Given the description of an element on the screen output the (x, y) to click on. 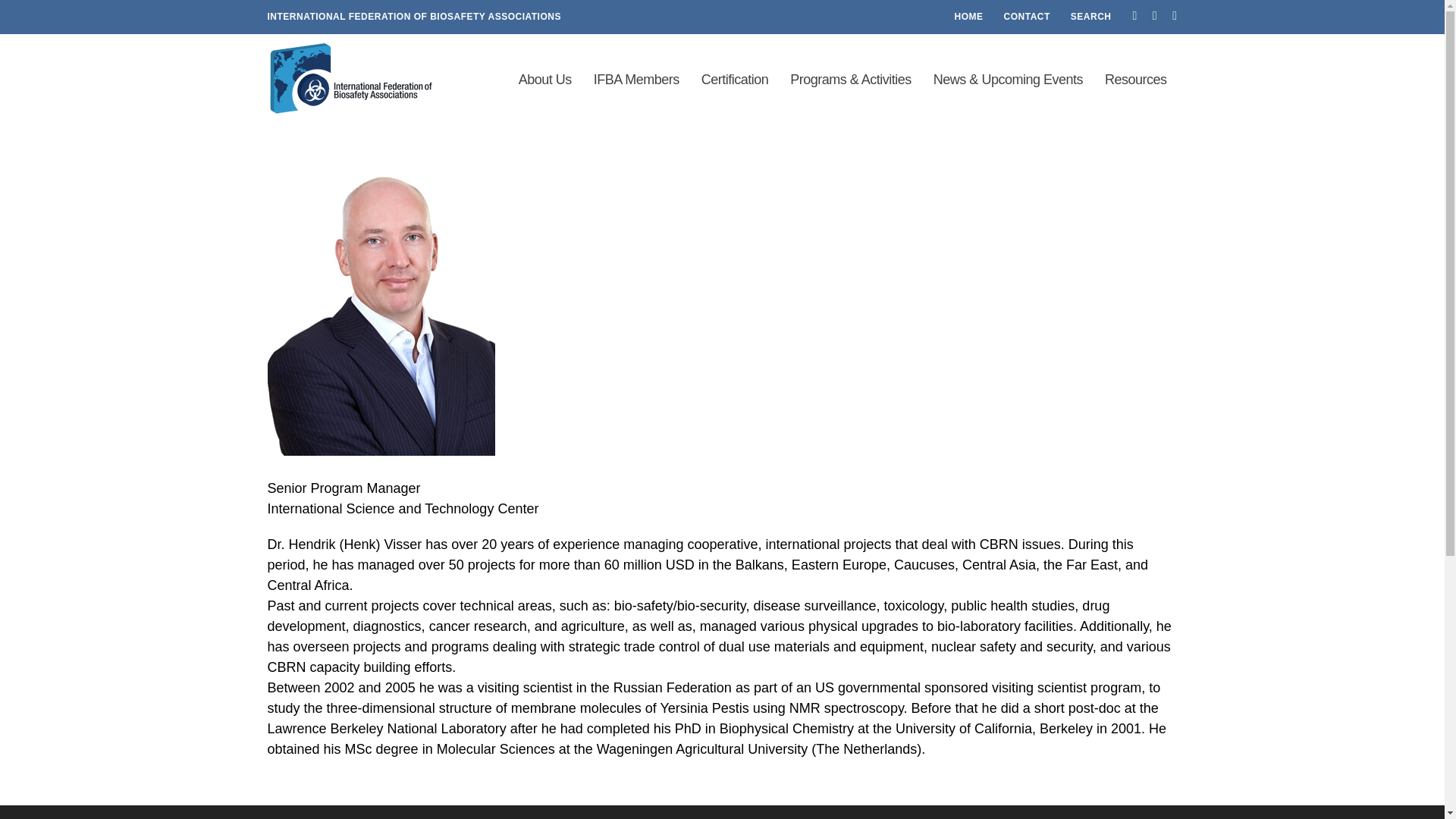
IFBA Members (636, 79)
HOME (968, 16)
SEARCH (1091, 16)
Certification (735, 79)
CONTACT (1026, 16)
